Given the description of an element on the screen output the (x, y) to click on. 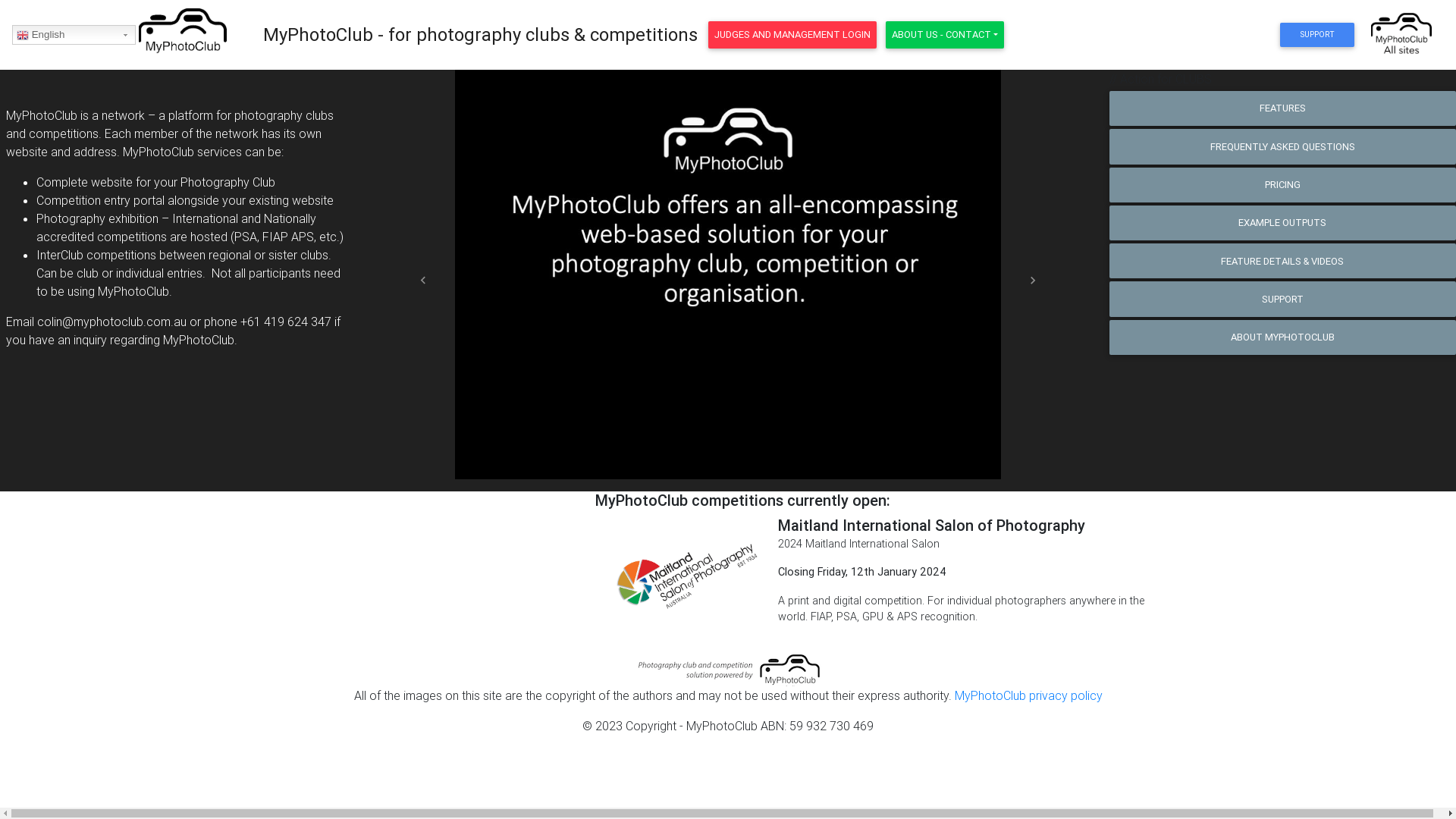
ABOUT US - CONTACT Element type: text (944, 34)
JUDGES AND MANAGEMENT LOGIN Element type: text (792, 34)
MyPhotoClub - for photography clubs & competitions Element type: text (480, 35)
Maitland International Salon of Photography Element type: text (931, 524)
Next Element type: text (1032, 280)
Previous Element type: text (423, 280)
SUPPORT Element type: text (1316, 34)
MyPhotoClub privacy policy Element type: text (1027, 694)
English Element type: text (73, 34)
